Given the description of an element on the screen output the (x, y) to click on. 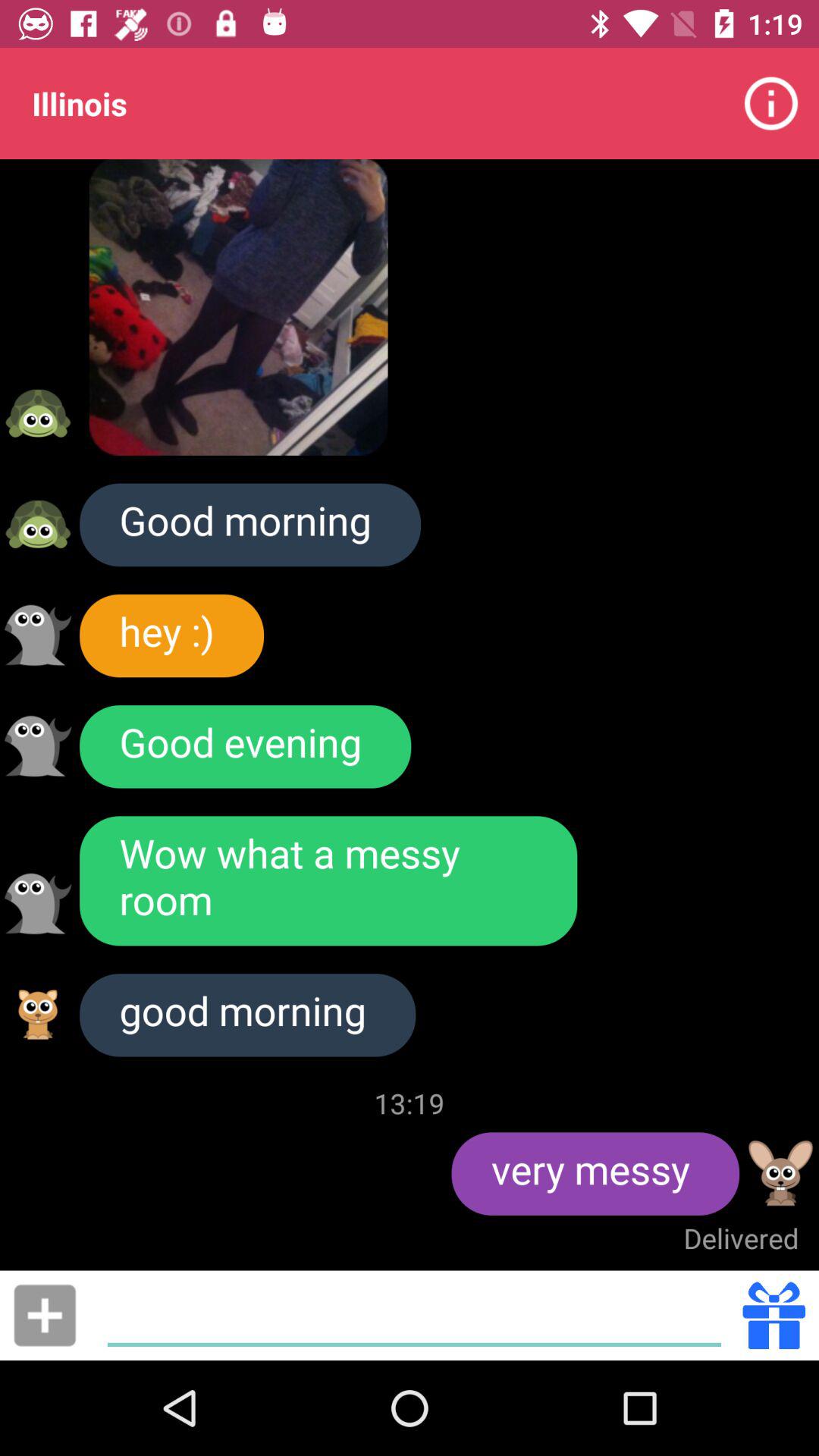
tap item at the top right corner (771, 103)
